Given the description of an element on the screen output the (x, y) to click on. 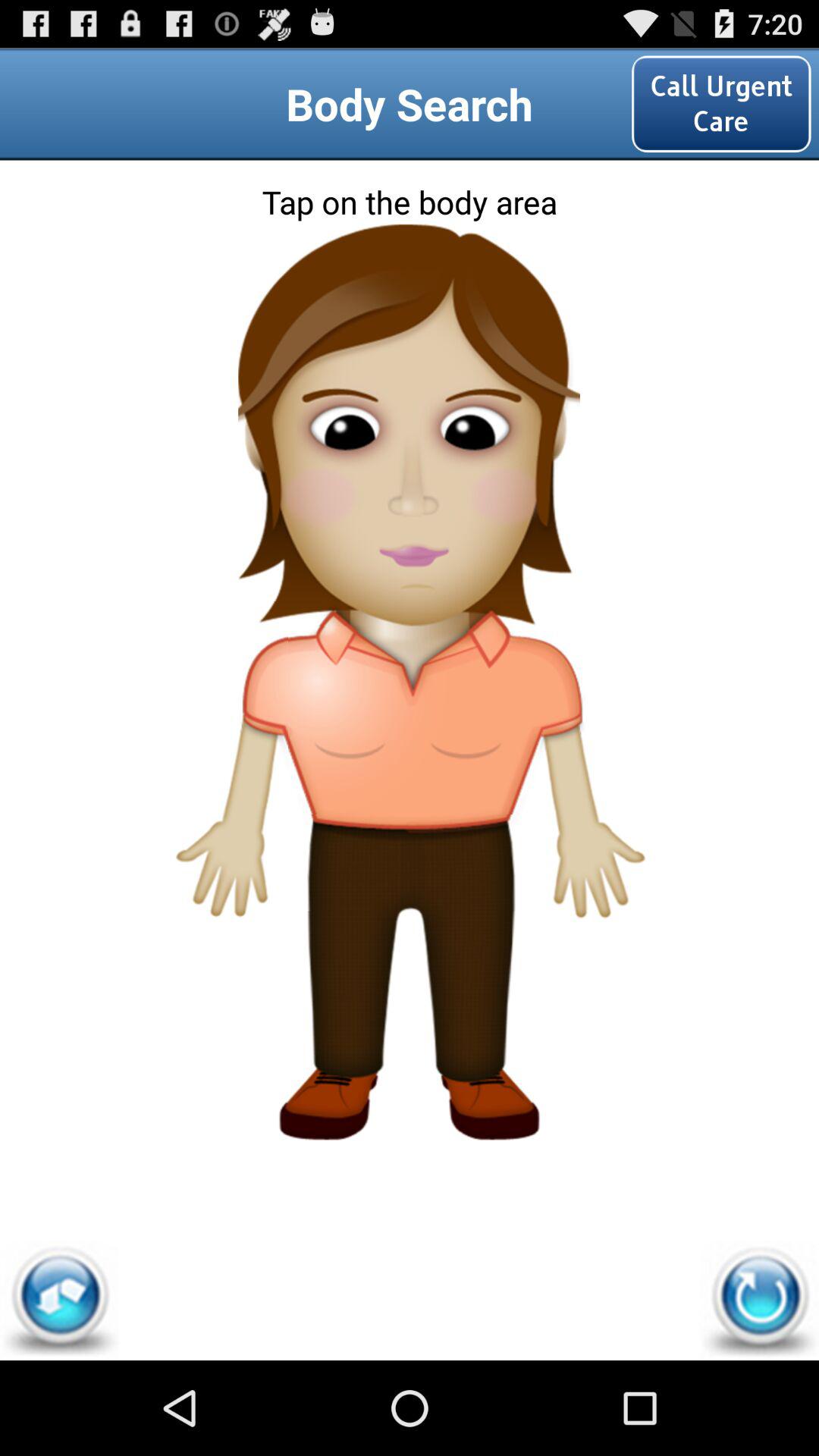
eyes (409, 406)
